Given the description of an element on the screen output the (x, y) to click on. 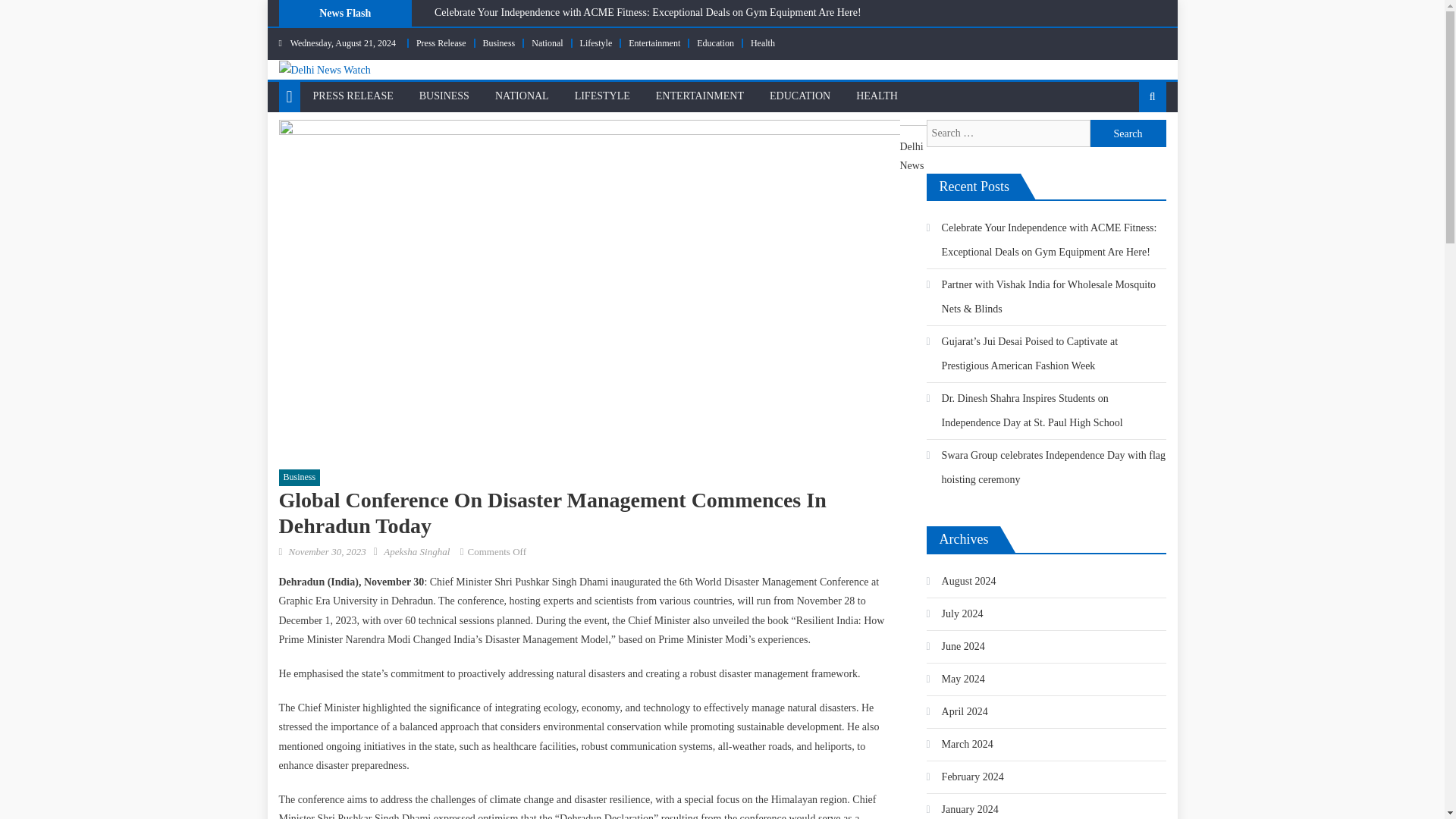
Search (1128, 145)
LIFESTYLE (602, 95)
National (546, 42)
Press Release (440, 42)
Business (499, 42)
Apeksha Singhal (416, 551)
Health (762, 42)
EDUCATION (799, 95)
Search (1128, 133)
ENTERTAINMENT (700, 95)
